Given the description of an element on the screen output the (x, y) to click on. 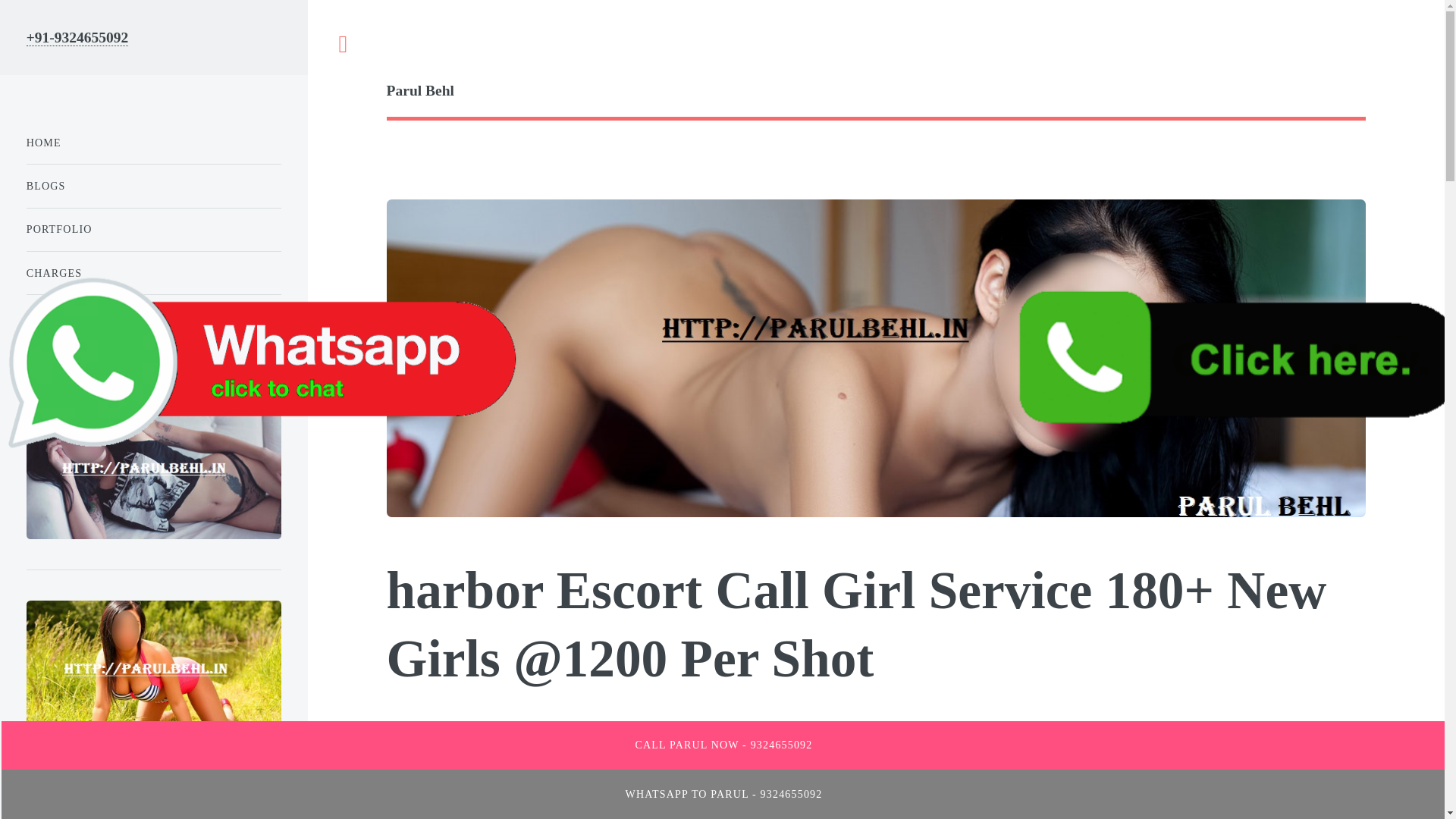
harbor Dating Call Girl (946, 795)
Parul Behl (876, 90)
Escort Service in harbor (869, 763)
harbor Escorts (590, 730)
